Given the description of an element on the screen output the (x, y) to click on. 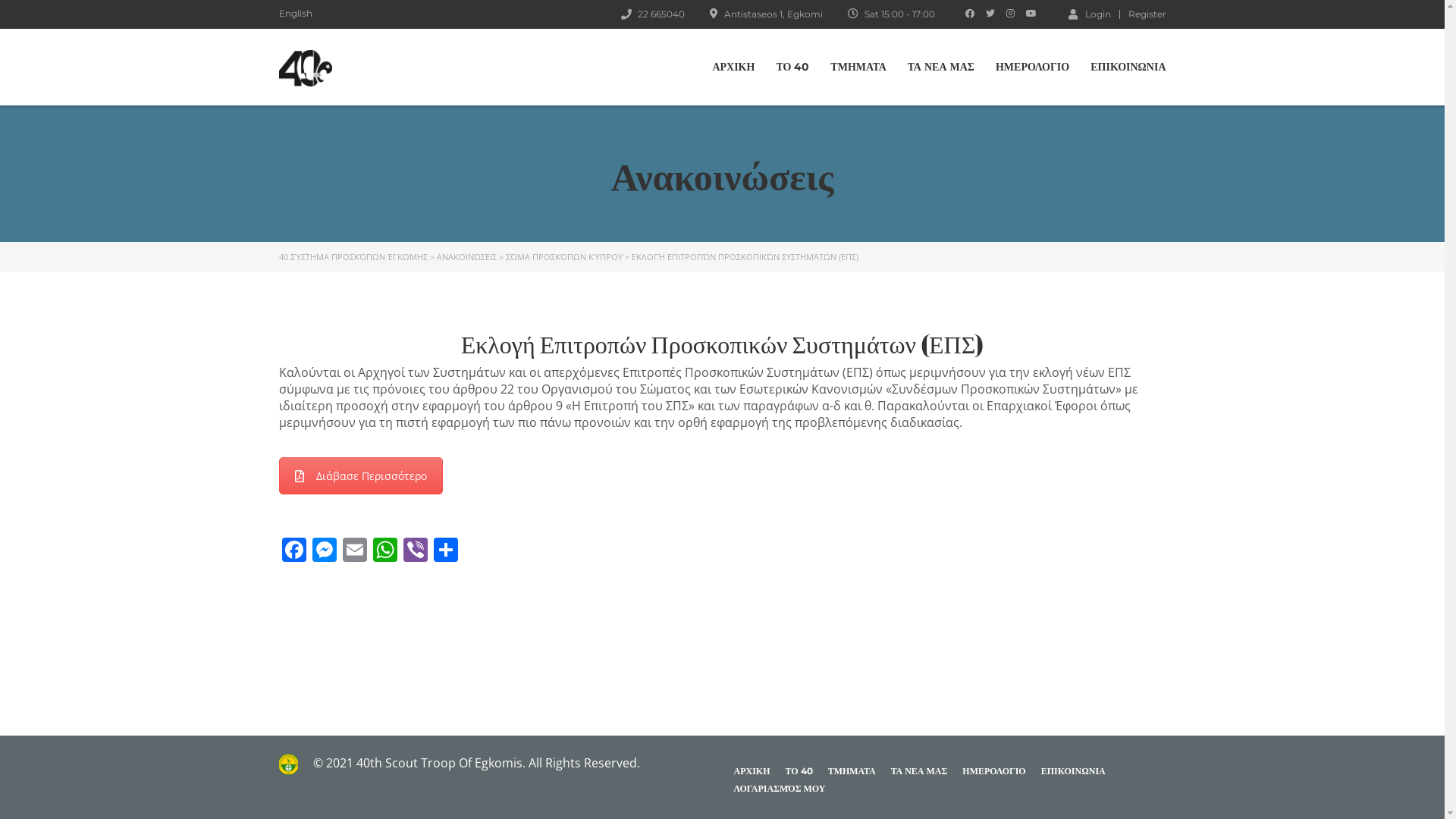
Share Element type: text (445, 550)
Messenger Element type: text (324, 550)
WhatsApp Element type: text (385, 550)
22 665040 Element type: text (660, 13)
Facebook Element type: text (294, 550)
Viber Element type: text (415, 550)
Email Element type: text (354, 550)
Login Element type: text (1088, 13)
Register Element type: text (1147, 13)
Antistaseos 1, Egkomi Element type: text (772, 13)
